Given the description of an element on the screen output the (x, y) to click on. 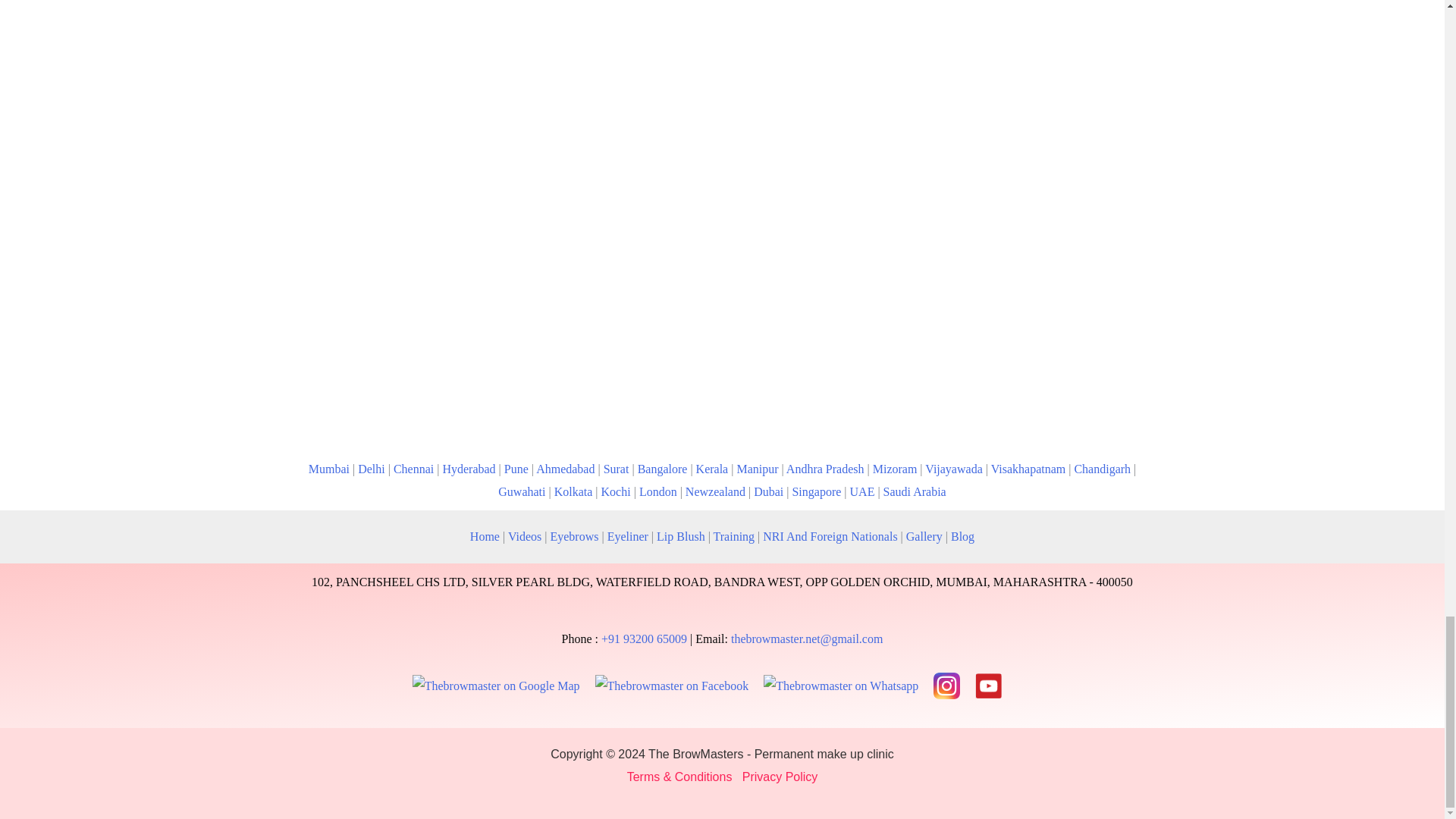
Thebrowmaster on Google Maps (495, 685)
Thebrowmaster on Instagram (946, 685)
Thebrowmaster on Facebook (672, 685)
Thebrowmaster on Youtube (988, 685)
Thebrowmaster on Whatsapp (840, 685)
